Given the description of an element on the screen output the (x, y) to click on. 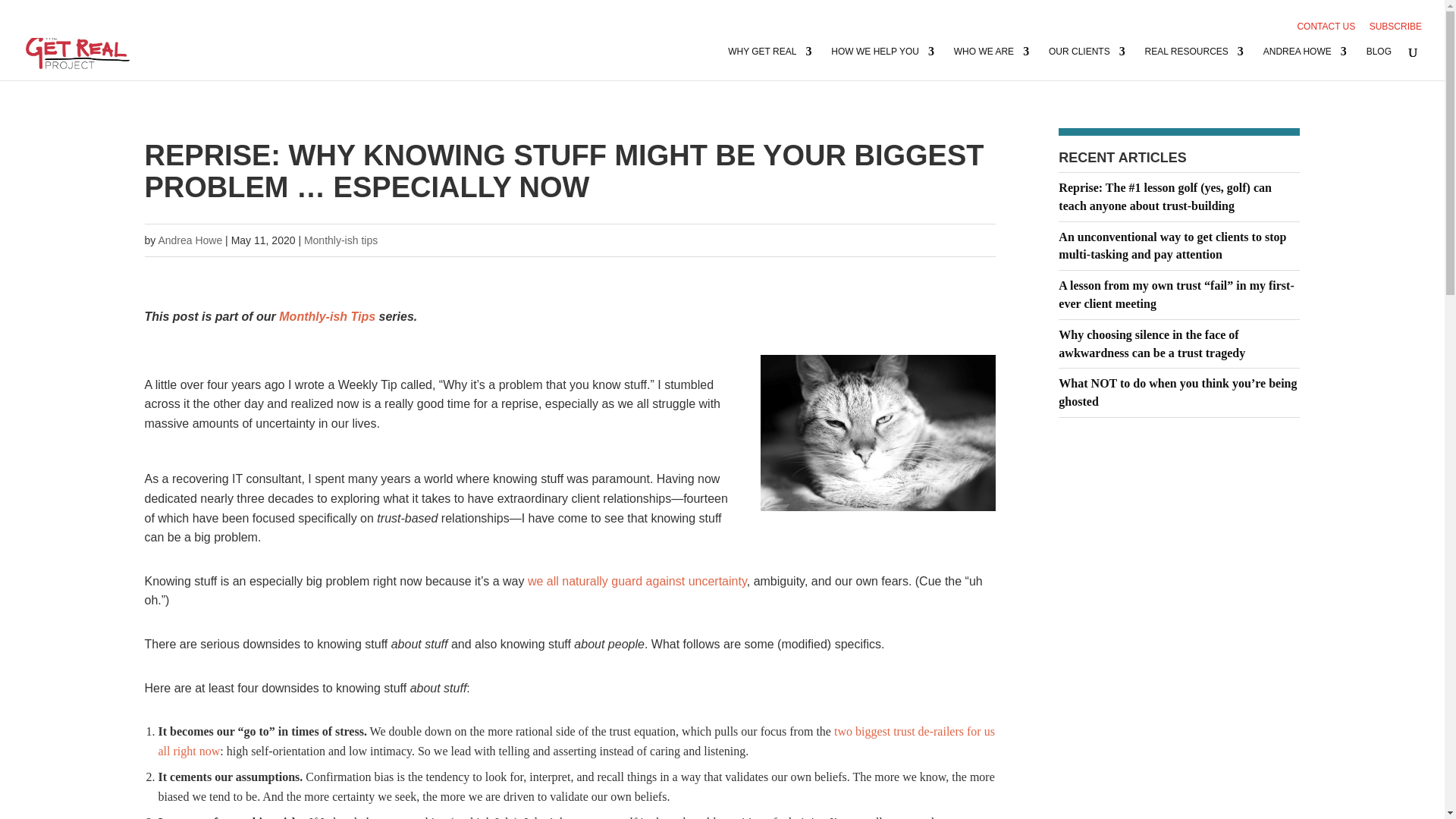
WHO WE ARE (991, 62)
OUR CLIENTS (1086, 62)
Posts by Andrea Howe (189, 240)
REAL RESOURCES (1193, 62)
CONTACT US (1326, 29)
WHY GET REAL (769, 62)
HOW WE HELP YOU (882, 62)
SUBSCRIBE (1396, 29)
